Given the description of an element on the screen output the (x, y) to click on. 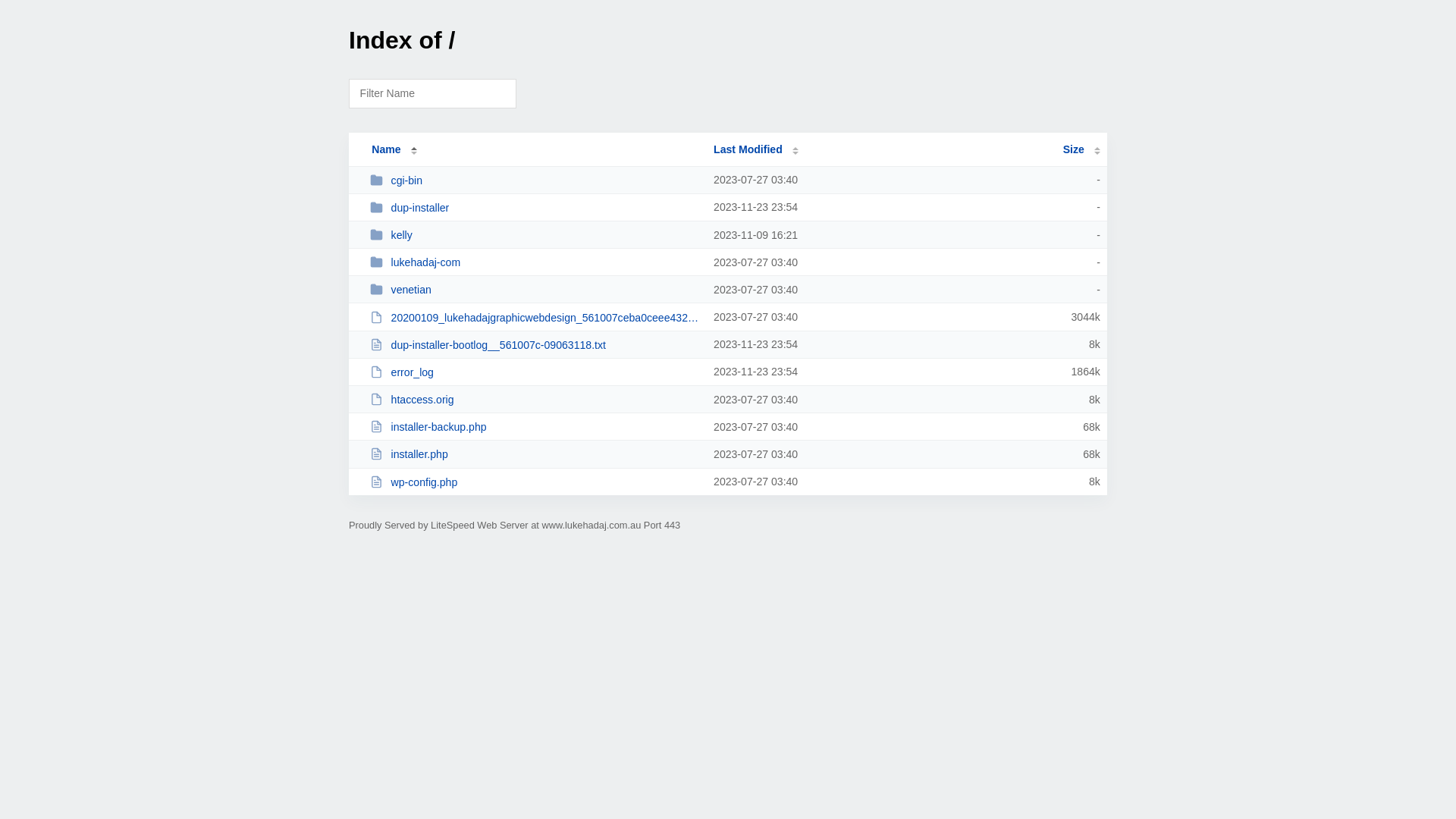
Name Element type: text (385, 149)
htaccess.orig Element type: text (534, 398)
venetian Element type: text (534, 288)
wp-config.php Element type: text (534, 481)
lukehadaj-com Element type: text (534, 261)
installer.php Element type: text (534, 453)
cgi-bin Element type: text (534, 179)
error_log Element type: text (534, 371)
Size Element type: text (1081, 149)
kelly Element type: text (534, 234)
dup-installer Element type: text (534, 206)
installer-backup.php Element type: text (534, 426)
dup-installer-bootlog__561007c-09063118.txt Element type: text (534, 344)
Last Modified Element type: text (755, 149)
